Given the description of an element on the screen output the (x, y) to click on. 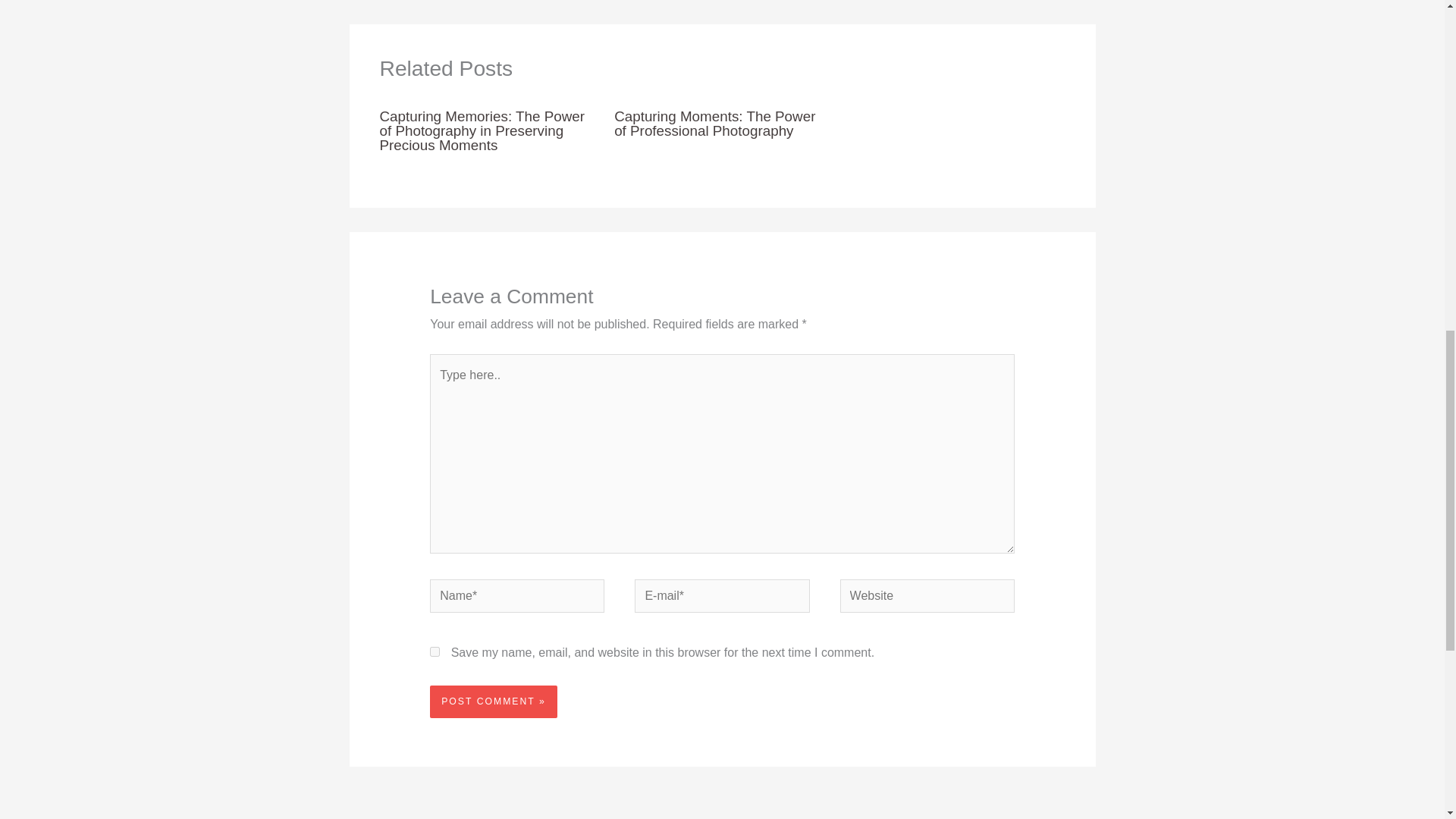
yes (434, 651)
Capturing Moments: The Power of Professional Photography (714, 123)
